Given the description of an element on the screen output the (x, y) to click on. 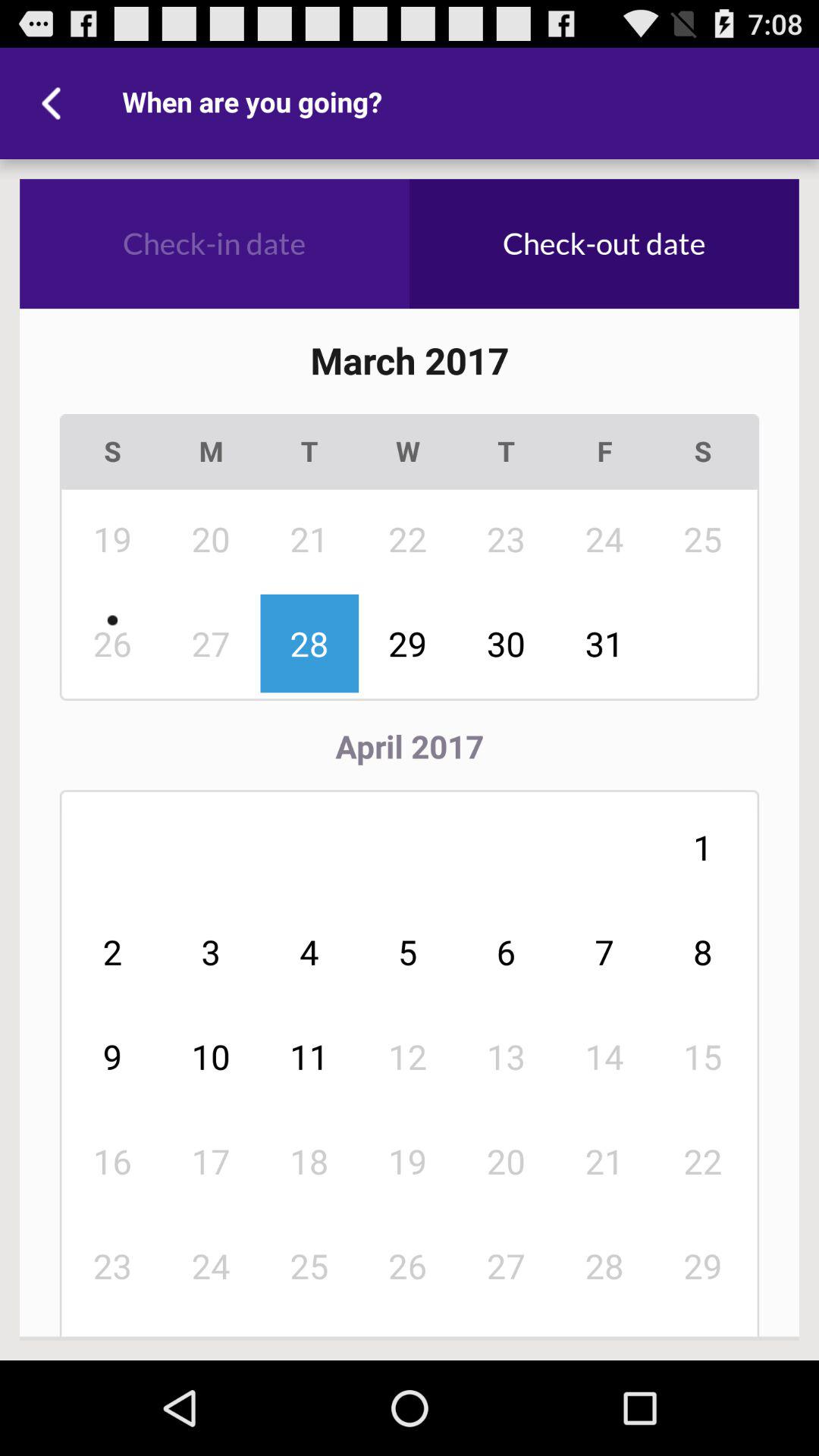
open the item below the 5 (506, 1056)
